Given the description of an element on the screen output the (x, y) to click on. 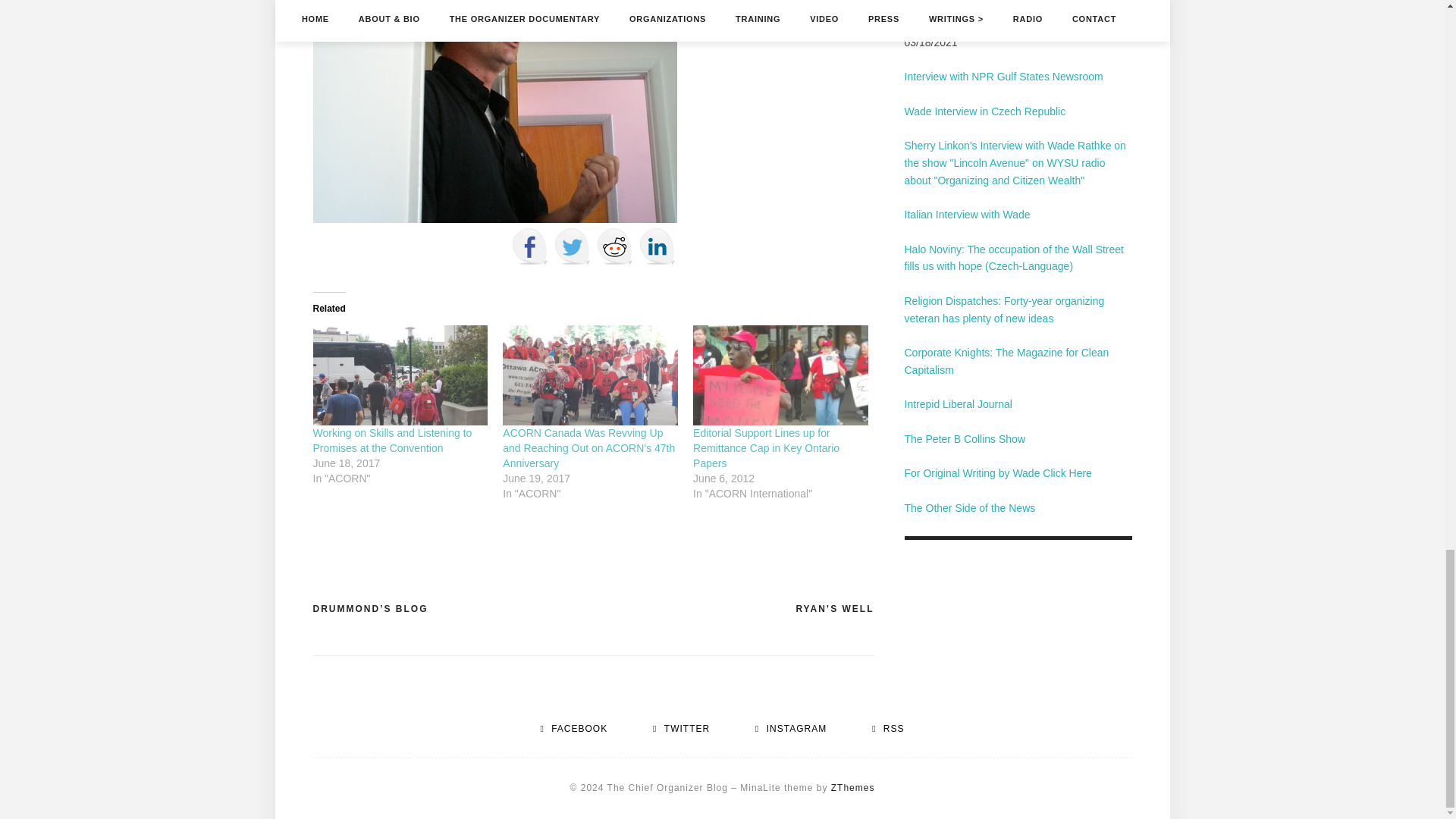
Share on Twitter (571, 246)
Share on Reddit (613, 246)
Share on Facebook (529, 246)
Share on LinkedIn (657, 246)
